Given the description of an element on the screen output the (x, y) to click on. 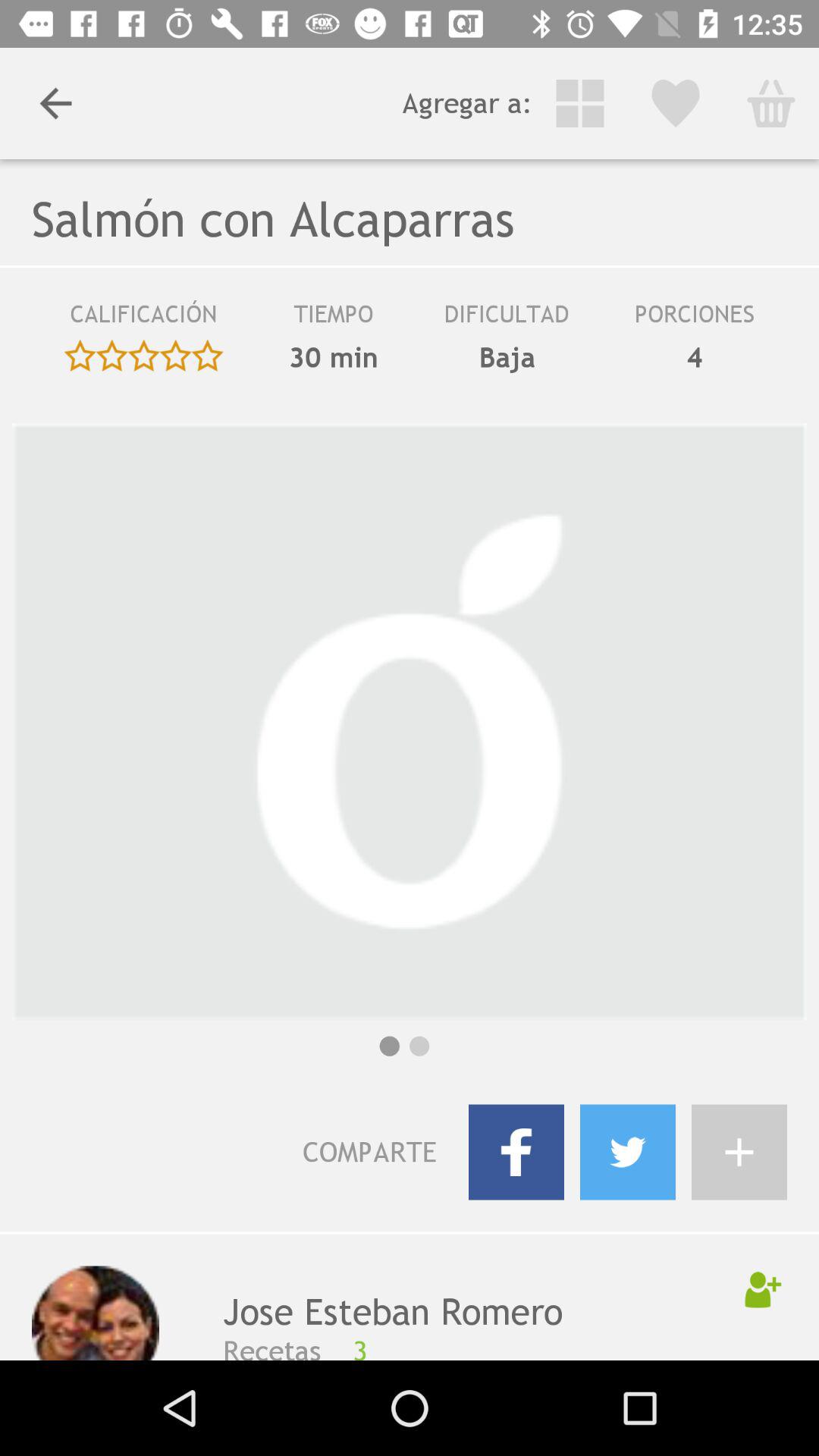
swipe to 30 min icon (333, 357)
